Given the description of an element on the screen output the (x, y) to click on. 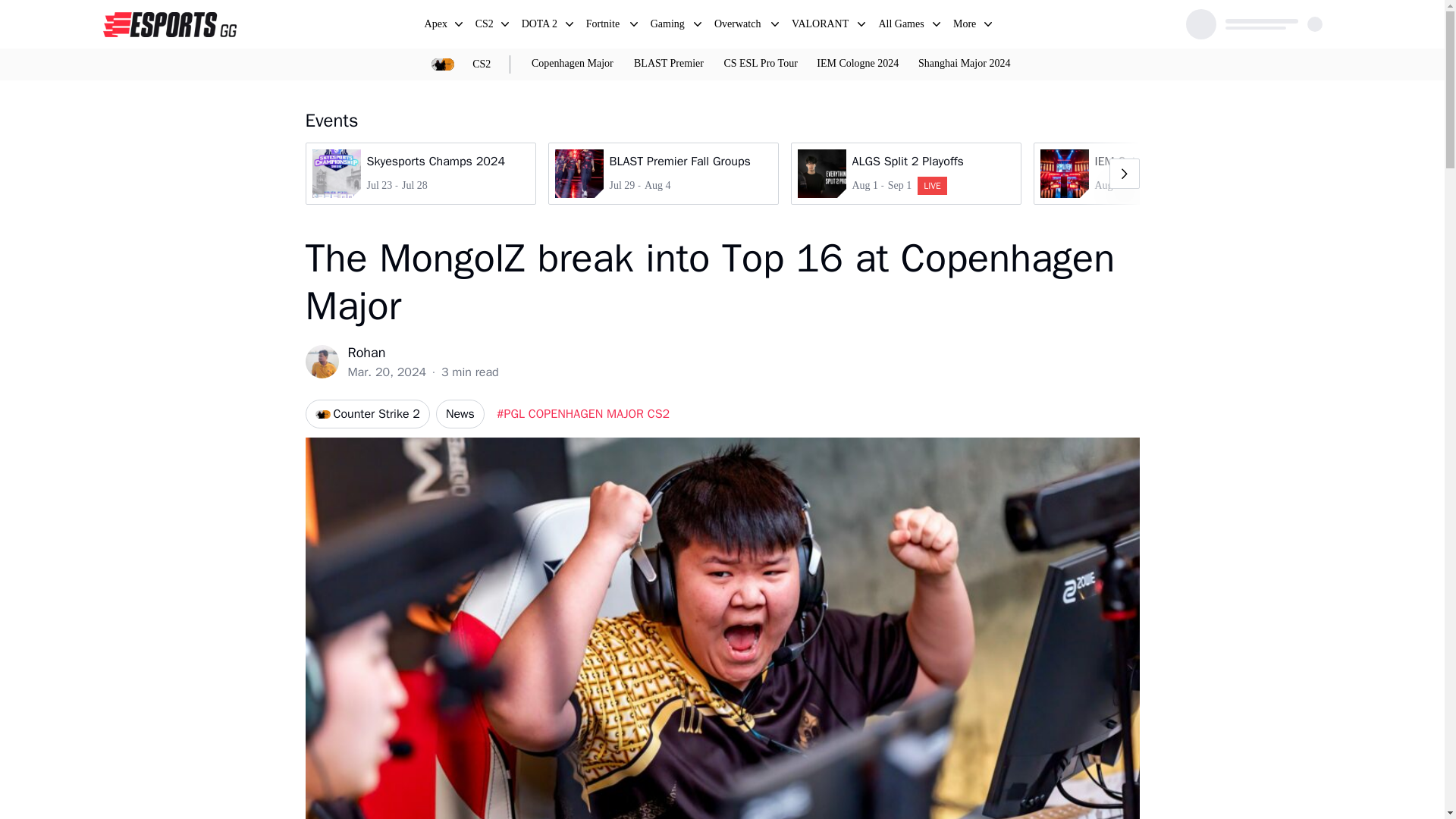
Gaming (668, 25)
Copenhagen Major (571, 64)
CS ESL Pro Tour (759, 64)
News (459, 413)
Rohan (422, 352)
All Games (905, 173)
Apex (901, 25)
Gaming (436, 25)
DOTA 2 (668, 25)
